Given the description of an element on the screen output the (x, y) to click on. 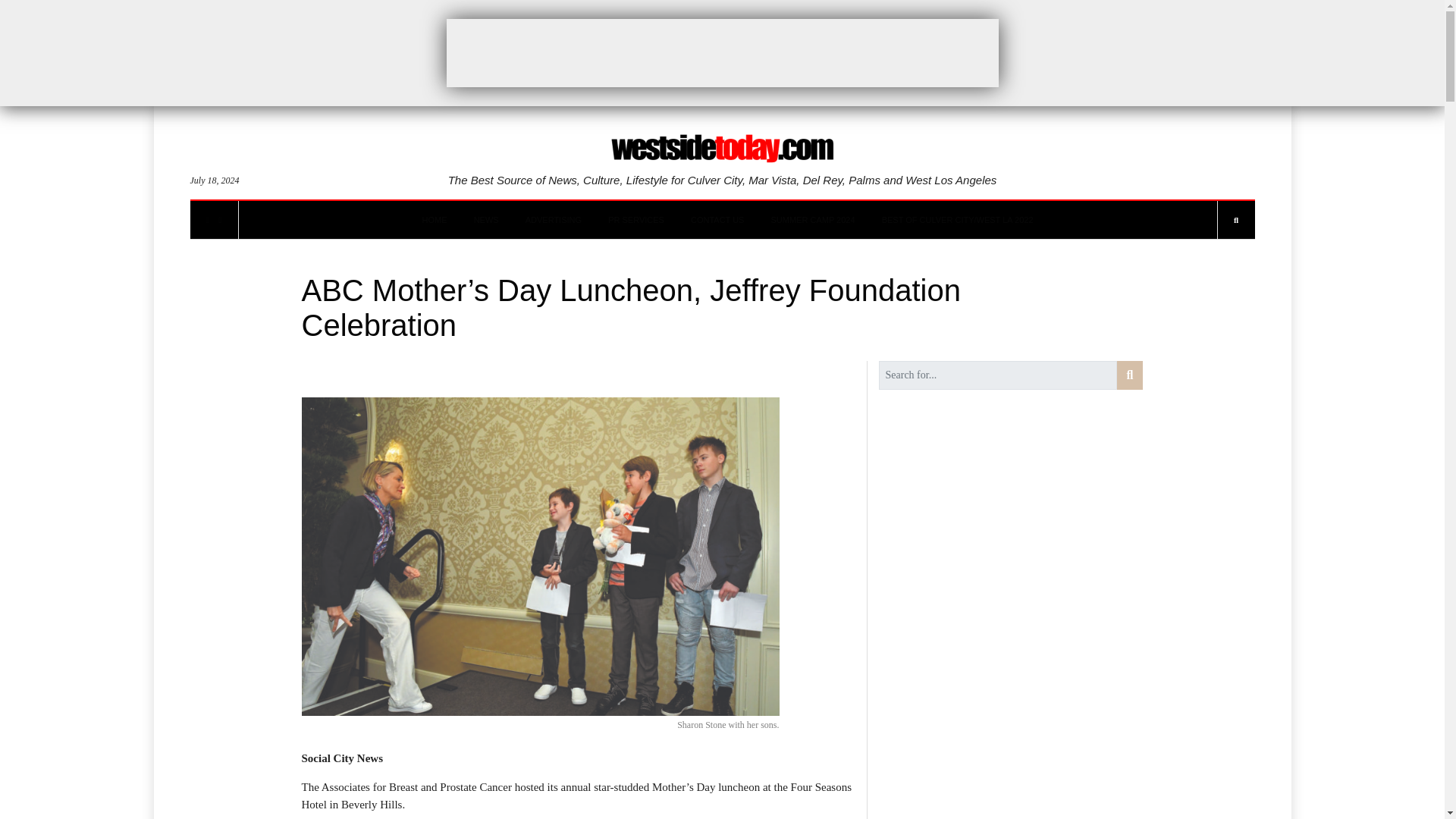
CONTACT US (717, 219)
3rd party ad content (721, 52)
ADVERTISING (552, 219)
SUMMER CAMP 2024 (813, 219)
PR SERVICES (635, 219)
